Given the description of an element on the screen output the (x, y) to click on. 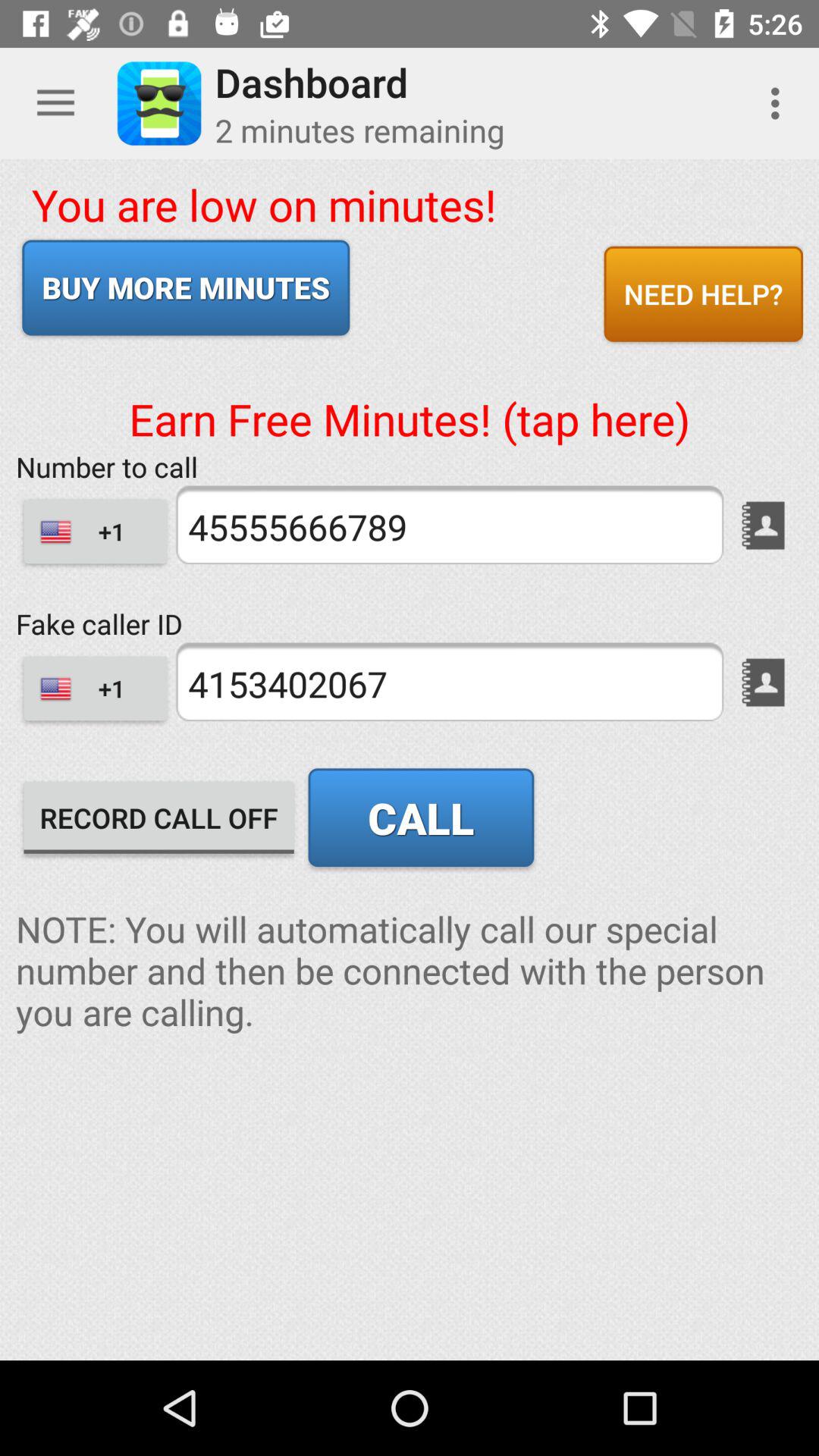
select the item above number to call icon (409, 394)
